Given the description of an element on the screen output the (x, y) to click on. 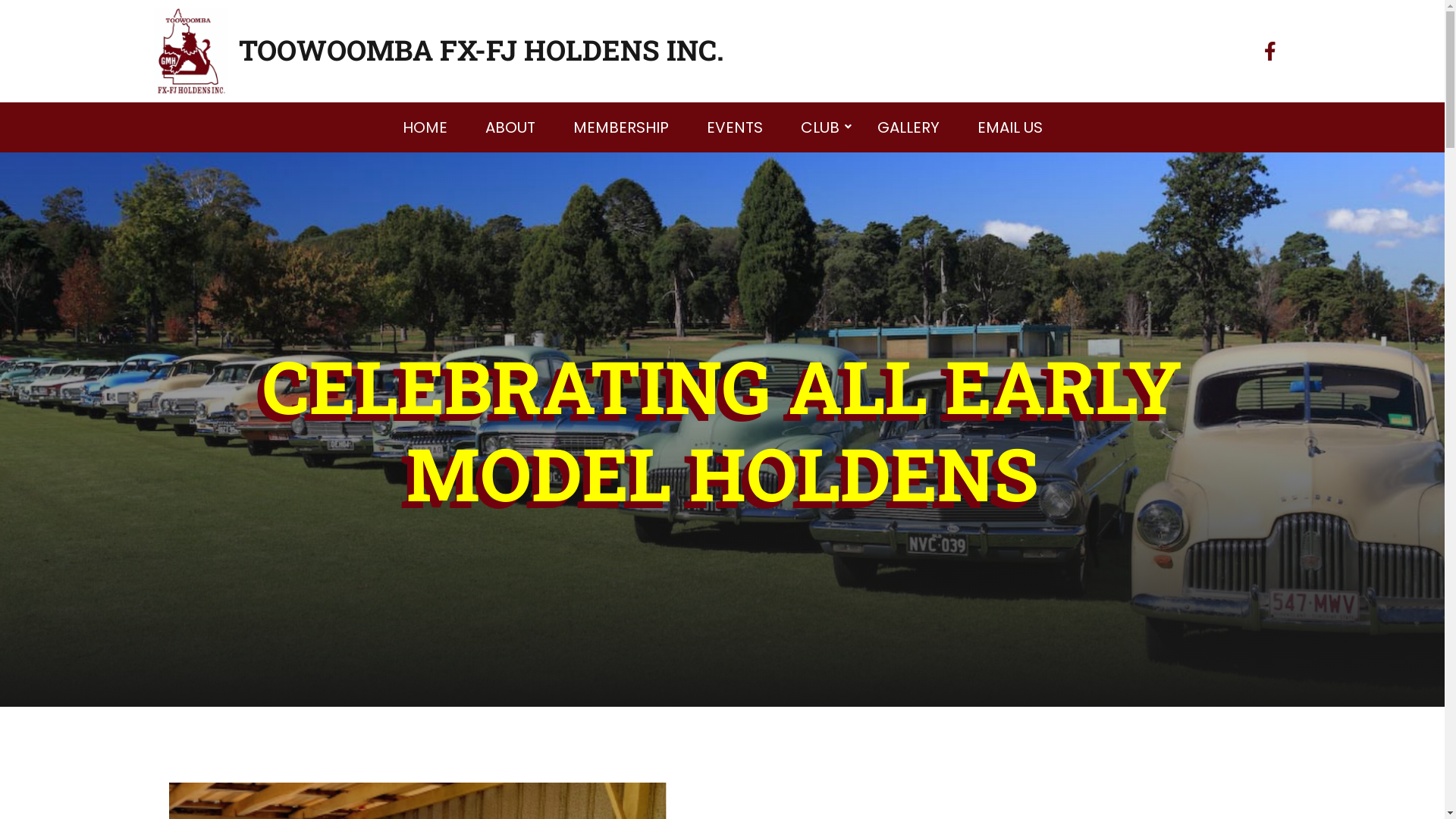
ABOUT Element type: text (509, 127)
TOOWOOMBA FX-FJ HOLDENS INC. Element type: text (480, 49)
CLUB Element type: text (819, 127)
GALLERY Element type: text (908, 127)
EVENTS Element type: text (733, 127)
MEMBERSHIP Element type: text (620, 127)
HOME Element type: text (424, 127)
EMAIL US Element type: text (1010, 127)
